Given the description of an element on the screen output the (x, y) to click on. 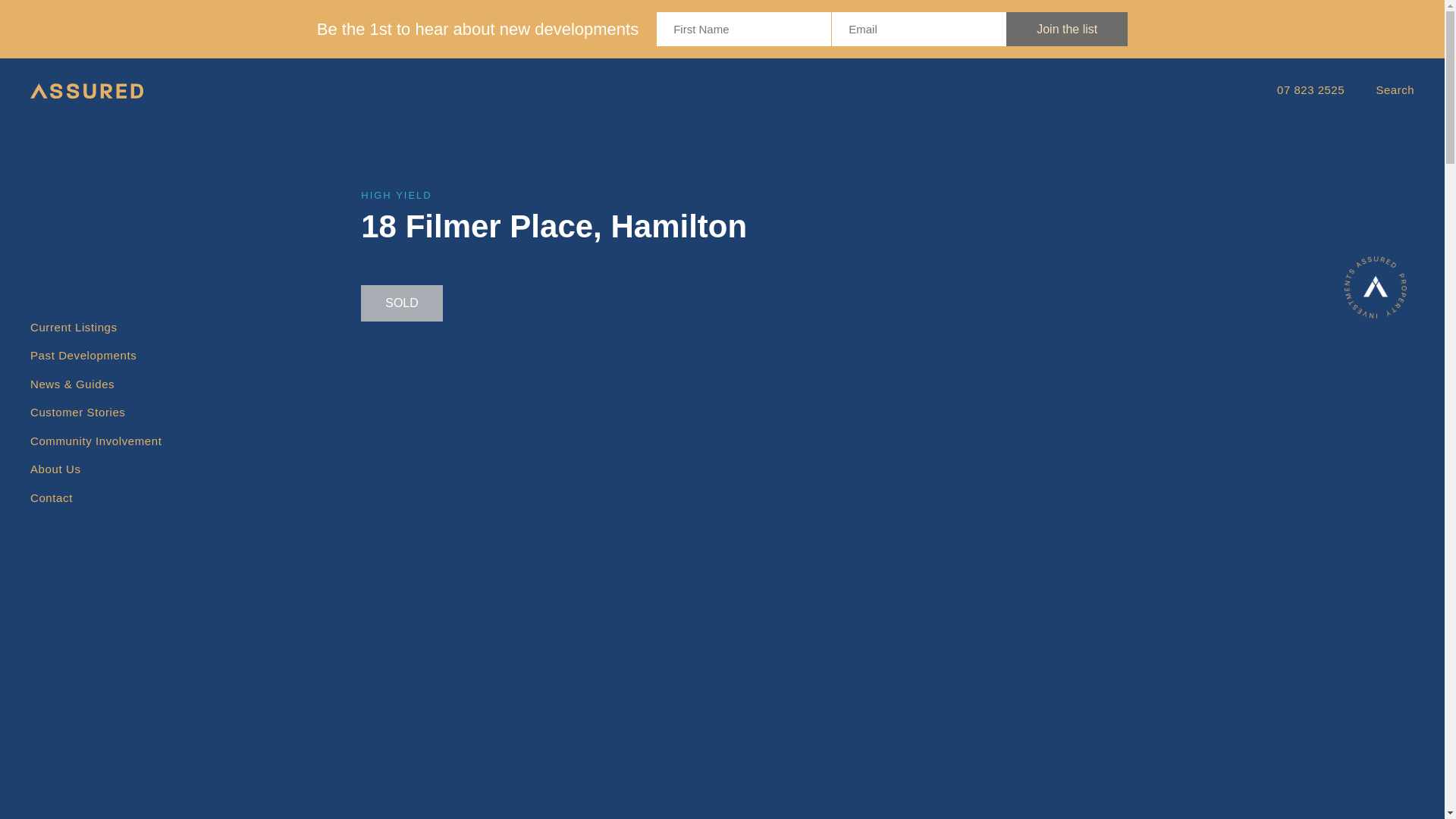
Contact (51, 497)
Current Listings (73, 327)
Past Developments (83, 355)
Join the list (1066, 28)
About Us (55, 469)
Join the list (1066, 28)
Community Involvement (95, 441)
07 823 2525 (1309, 89)
Customer Stories (77, 412)
Search (1394, 89)
